Given the description of an element on the screen output the (x, y) to click on. 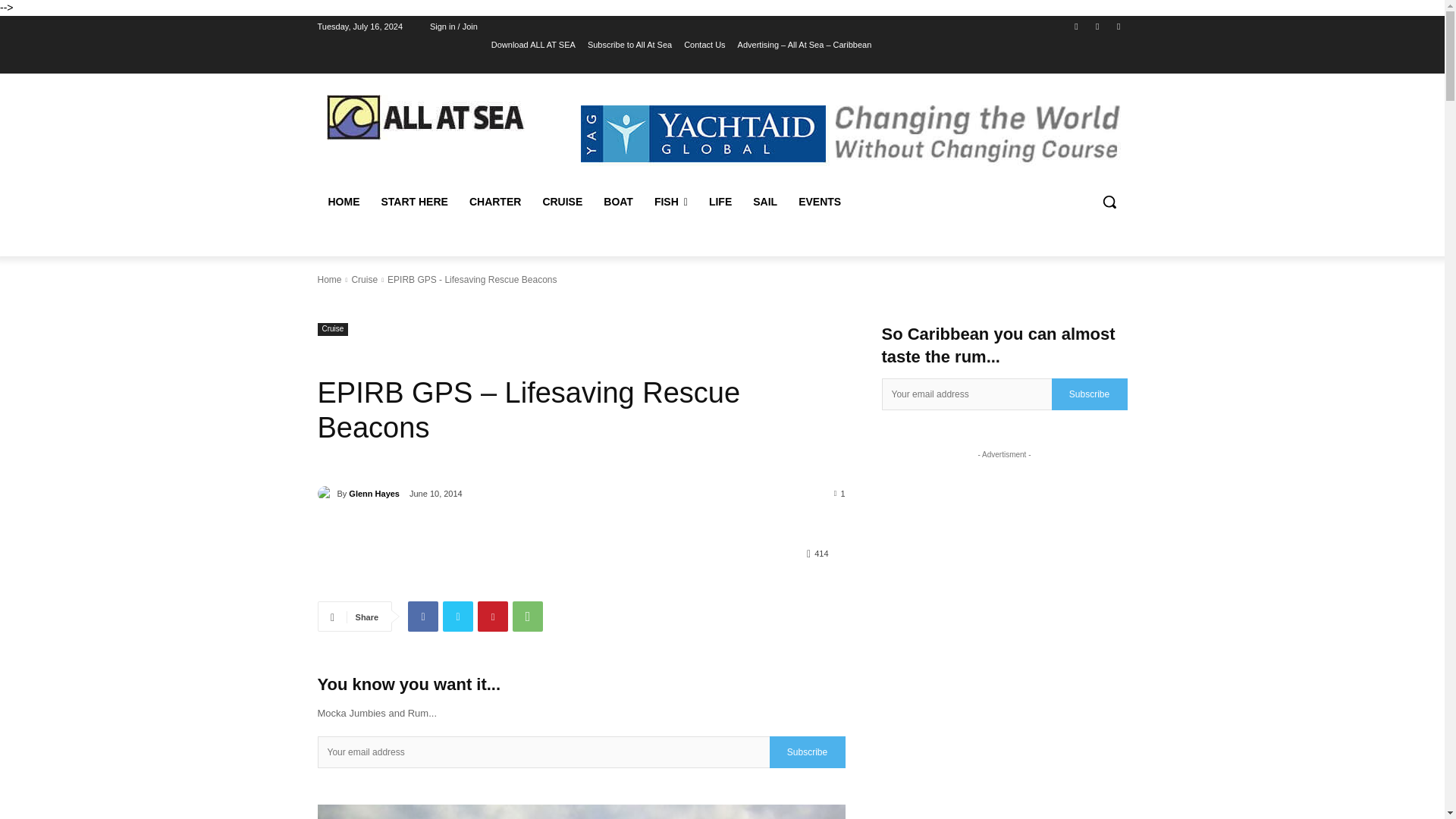
Twitter (457, 616)
SAIL (764, 201)
Glenn Hayes (326, 493)
View all posts in Cruise (363, 279)
WhatsApp (527, 616)
Facebook (422, 616)
CHARTER (494, 201)
HOME (343, 201)
CRUISE (561, 201)
Subscribe to All At Sea (629, 44)
Contact Us (704, 44)
Twitter (1117, 27)
FISH (670, 201)
Instagram (1097, 27)
Pinterest (492, 616)
